Given the description of an element on the screen output the (x, y) to click on. 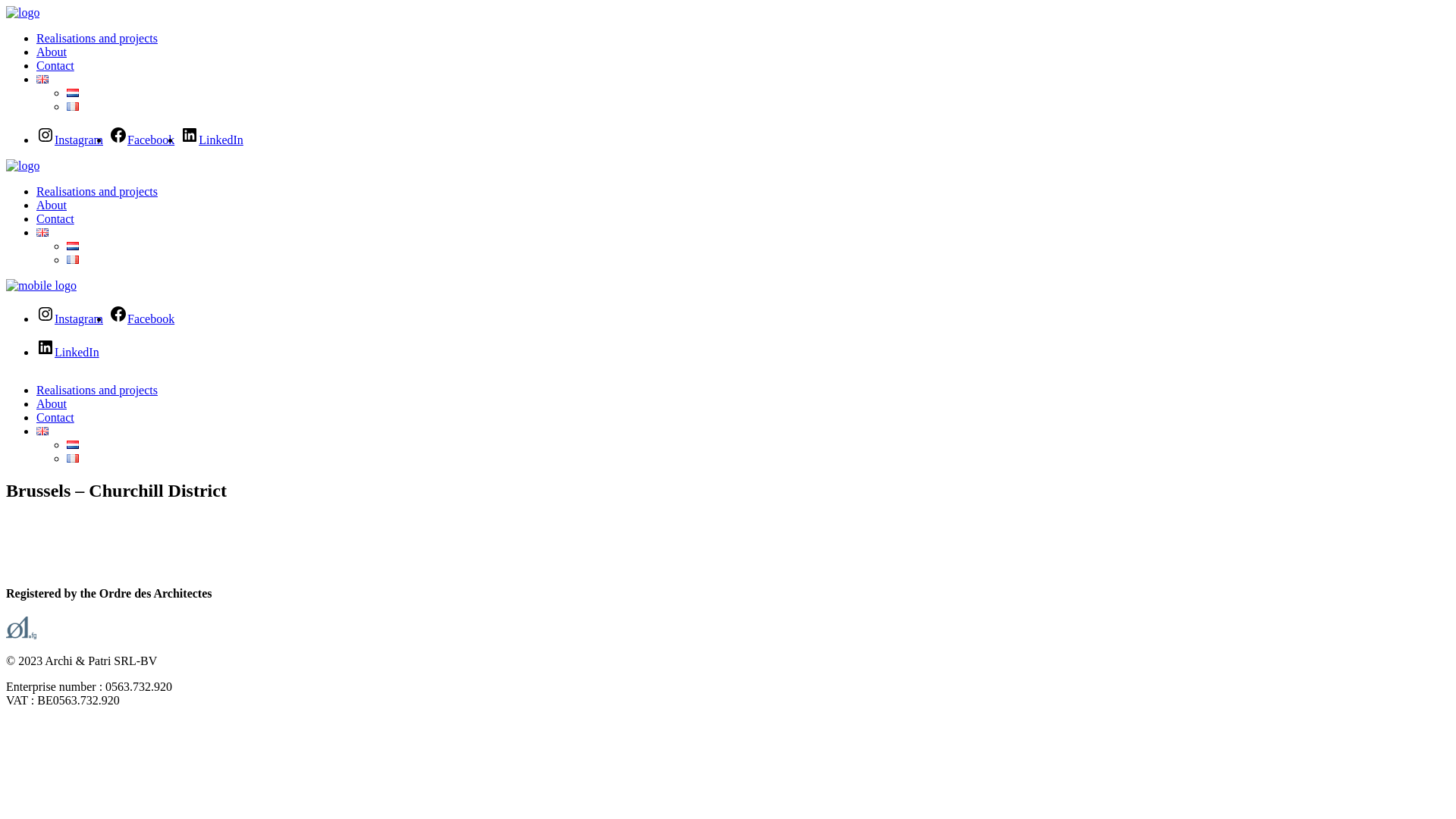
About Element type: text (51, 204)
Realisations and projects Element type: text (96, 37)
Instagram Element type: text (69, 318)
Contact Element type: text (55, 218)
About Element type: text (51, 51)
LinkedIn Element type: text (211, 139)
About Element type: text (51, 403)
LinkedIn Element type: text (67, 351)
Contact Element type: text (55, 65)
Facebook Element type: text (141, 139)
Facebook Element type: text (141, 318)
Contact Element type: text (55, 417)
Instagram Element type: text (69, 139)
Realisations and projects Element type: text (96, 191)
Realisations and projects Element type: text (96, 389)
